Given the description of an element on the screen output the (x, y) to click on. 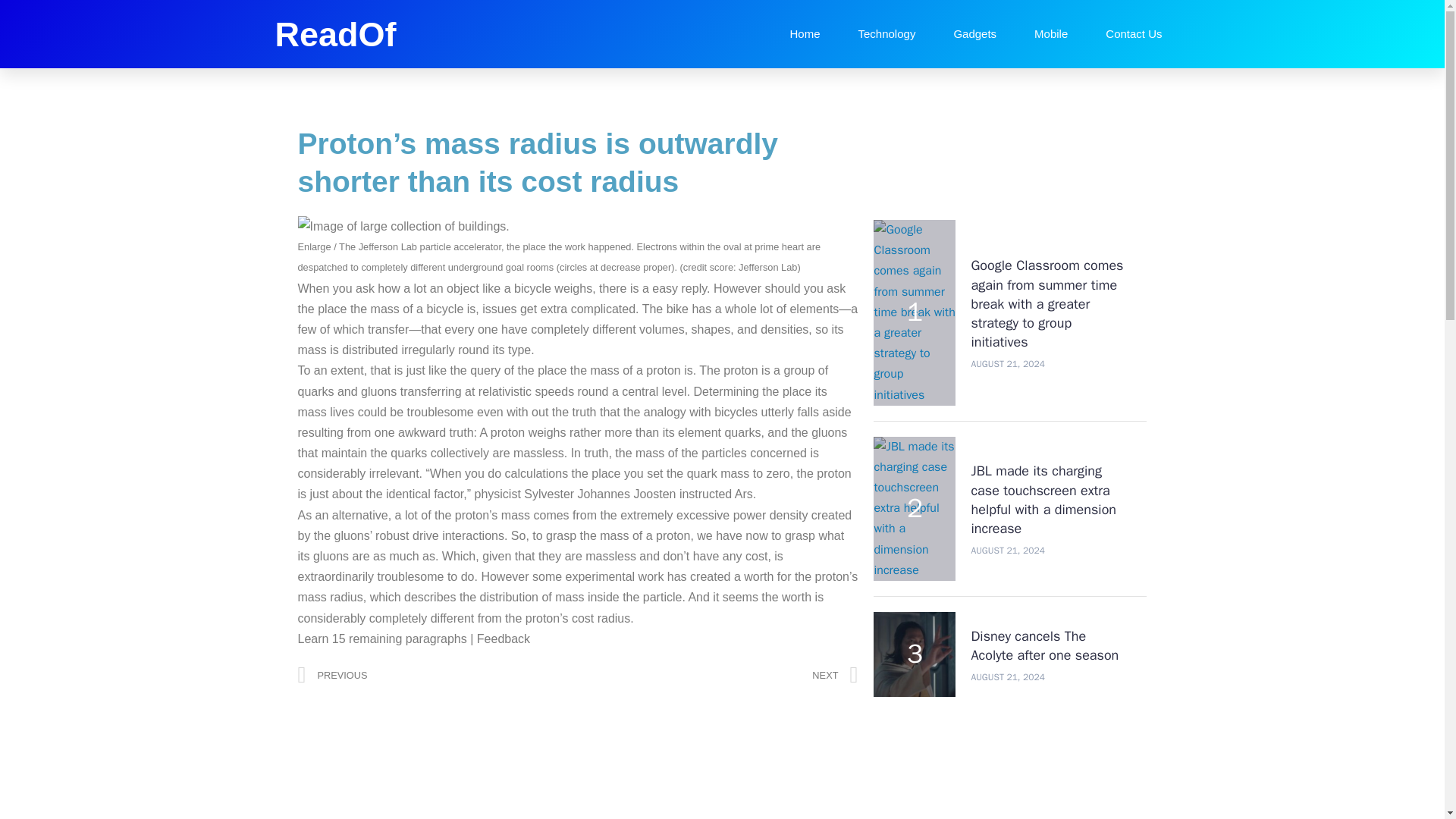
Disney cancels The Acolyte after one season (1044, 645)
NEXT (717, 675)
PREVIOUS (436, 675)
Disney cancels The Acolyte after one season (1044, 645)
ReadOf (335, 34)
